Given the description of an element on the screen output the (x, y) to click on. 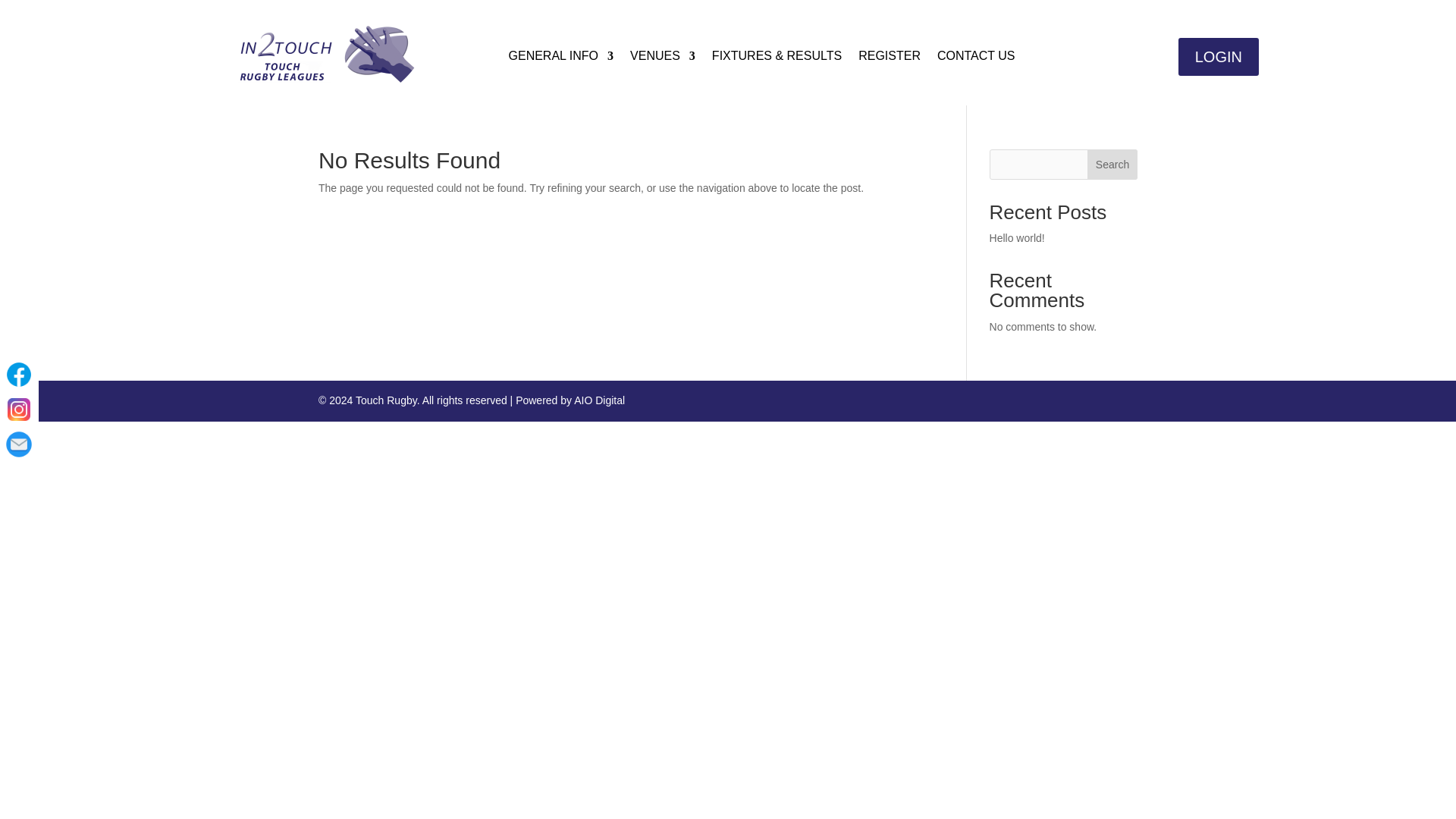
GENERAL INFO (561, 58)
Hello world! (1017, 237)
Instagram (18, 409)
Facebook (18, 374)
REGISTER (889, 58)
CONTACT US (975, 58)
LOGIN (1218, 56)
VENUES (662, 58)
Search (1112, 164)
